Given the description of an element on the screen output the (x, y) to click on. 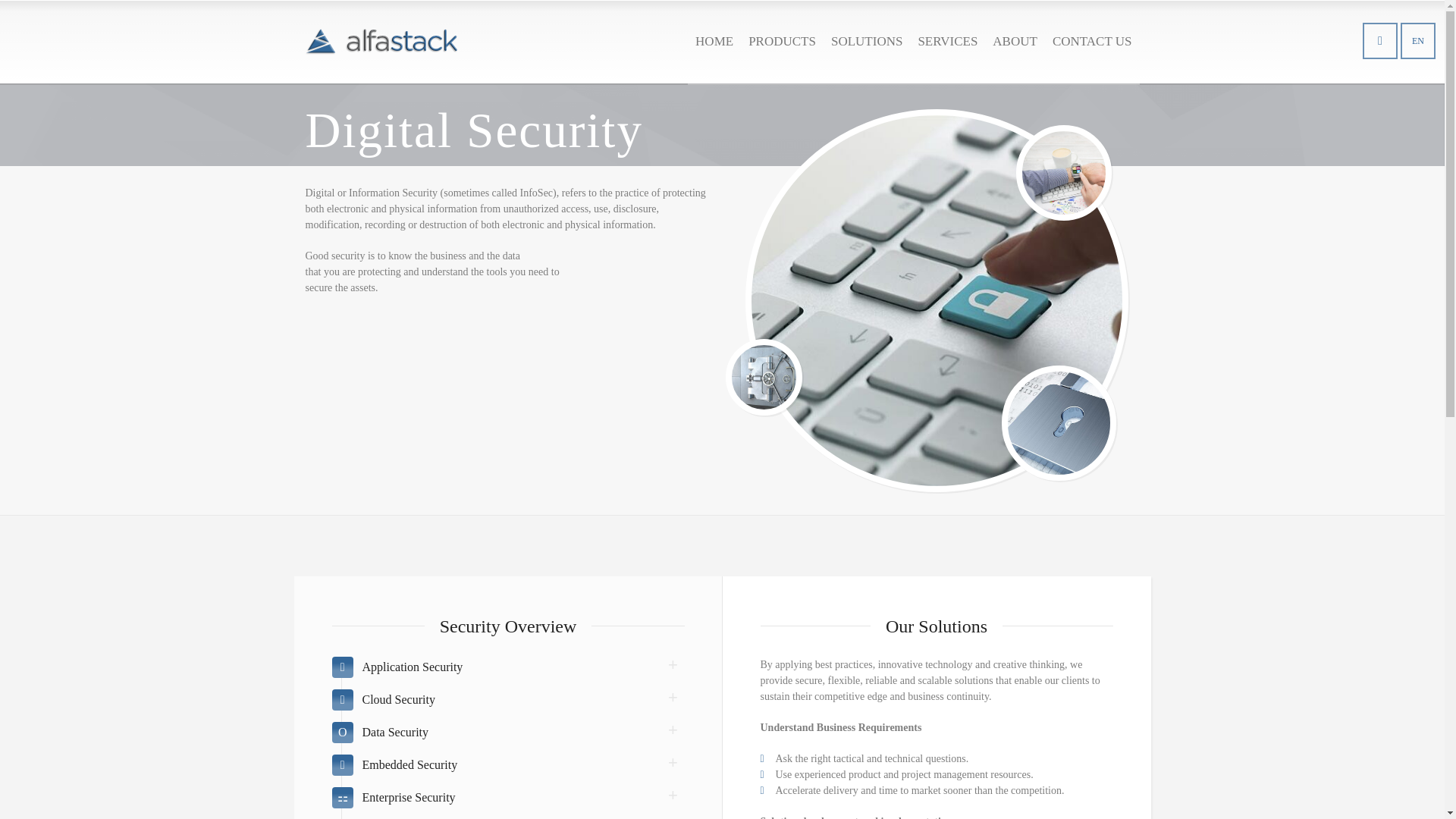
Languages (1418, 40)
ALFASTACK - Digital Security and Identity Authentication (380, 41)
PRODUCTS (782, 41)
SOLUTIONS (867, 41)
CONTACT US (1092, 41)
Search (1380, 40)
SERVICES (947, 41)
